Given the description of an element on the screen output the (x, y) to click on. 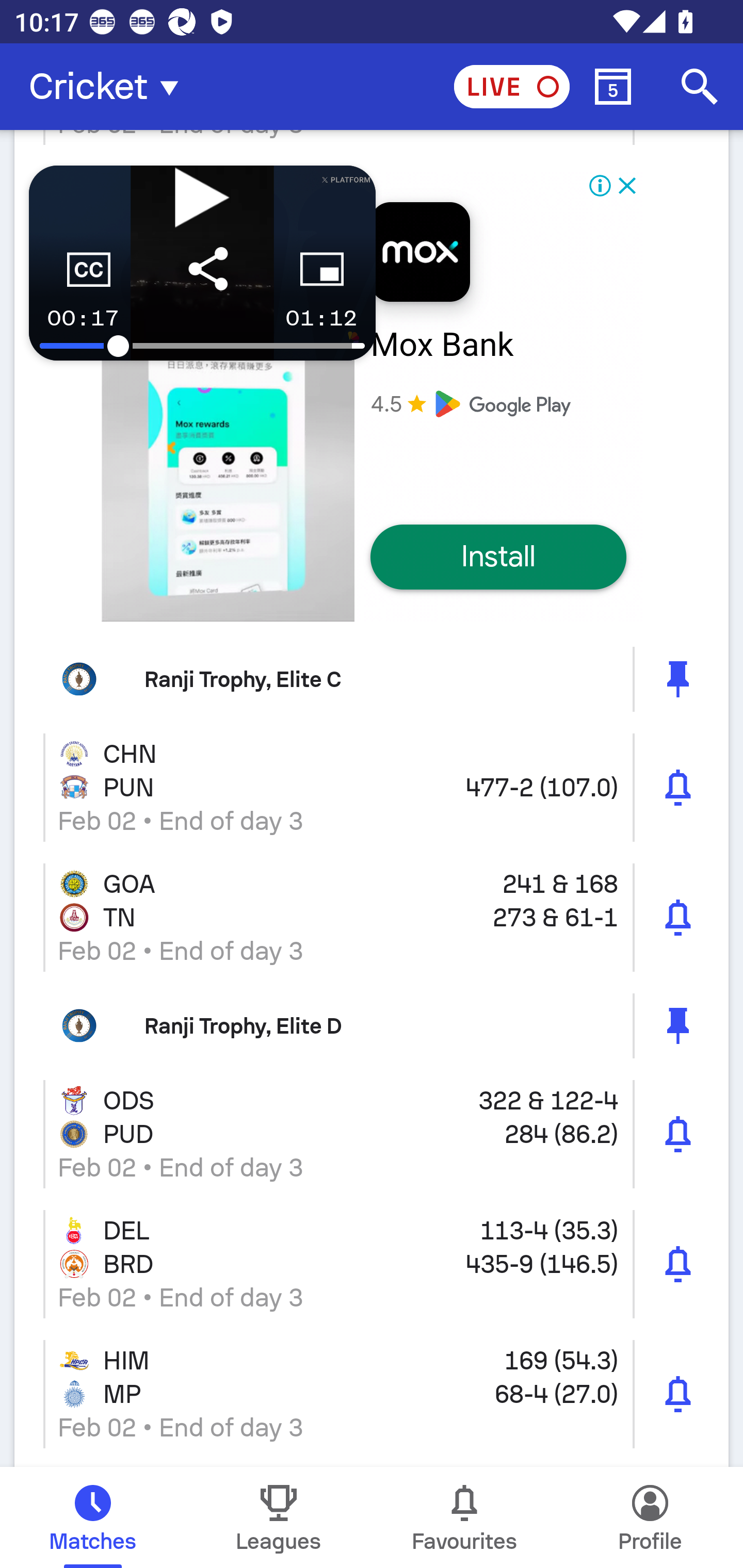
Cricket (109, 86)
Calendar (612, 86)
Search (699, 86)
Install (498, 557)
Ranji Trophy, Elite C (371, 679)
CHN PUN 477-2 (107.0) Feb 02 • End of day 3 (371, 787)
GOA 241 & 168 TN 273 & 61-1 Feb 02 • End of day 3 (371, 917)
Ranji Trophy, Elite D (371, 1026)
Leagues (278, 1517)
Favourites (464, 1517)
Profile (650, 1517)
